Given the description of an element on the screen output the (x, y) to click on. 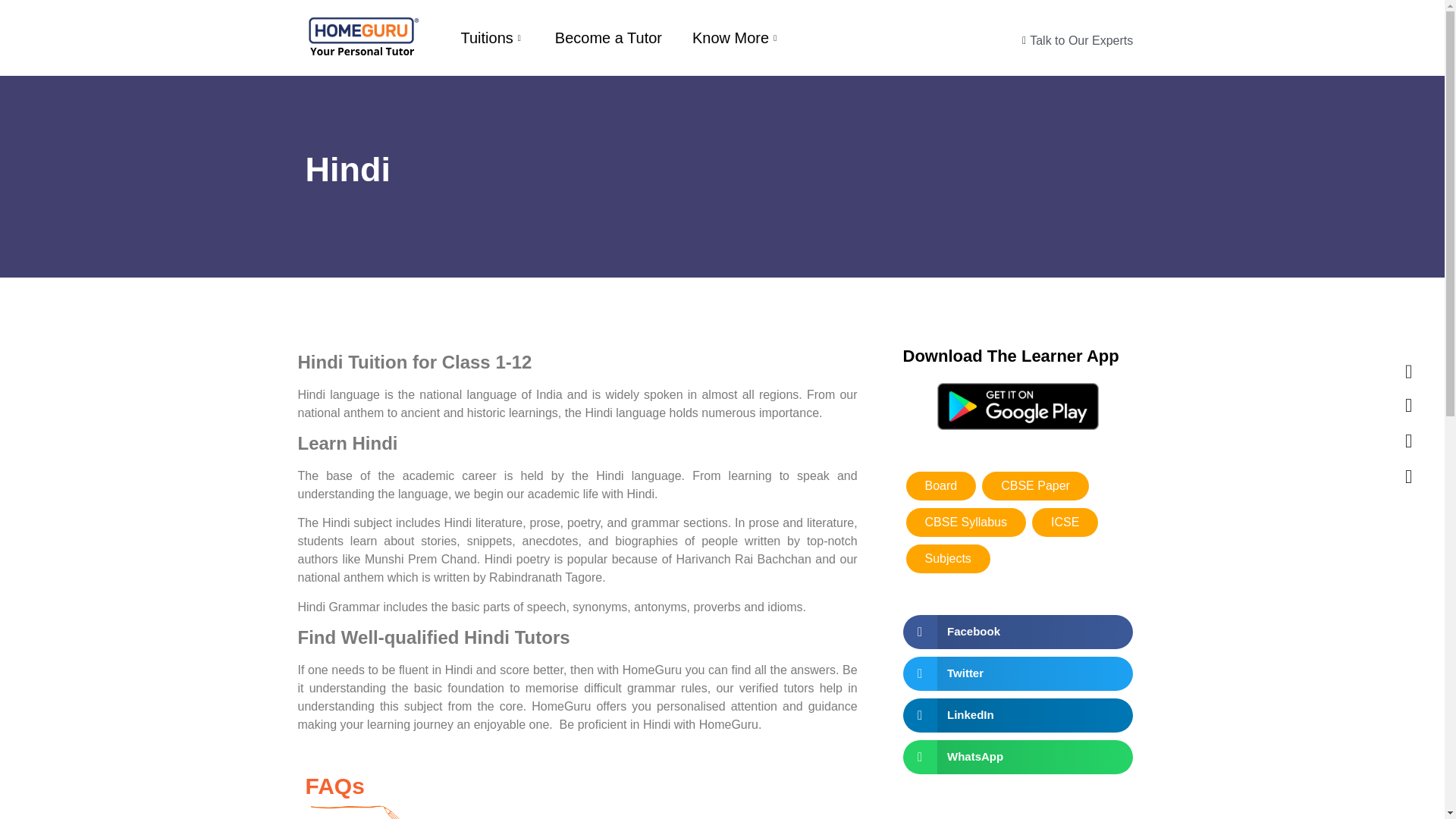
Become a Tutor (608, 37)
Talk to Our Experts (1025, 40)
Tuitions (491, 37)
Board (940, 485)
CBSE Syllabus (965, 522)
Subjects (947, 558)
Know More (735, 37)
CBSE Paper (1035, 485)
ICSE (1064, 522)
